Given the description of an element on the screen output the (x, y) to click on. 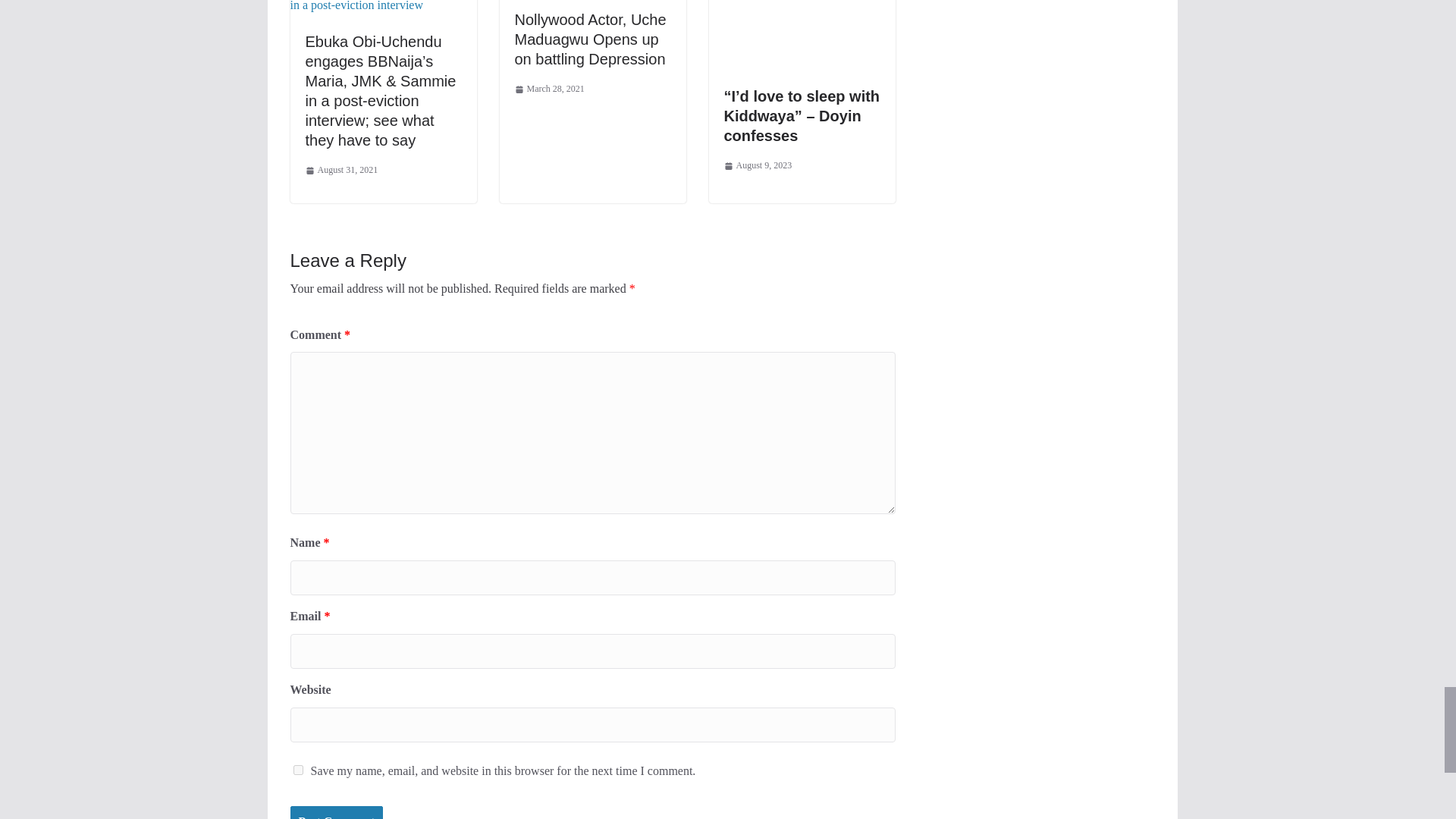
Post Comment (335, 812)
March 28, 2021 (548, 89)
Post Comment (335, 812)
yes (297, 769)
10:00 pm (340, 170)
August 31, 2021 (340, 170)
7:49 am (548, 89)
5:51 am (757, 166)
August 9, 2023 (757, 166)
